Given the description of an element on the screen output the (x, y) to click on. 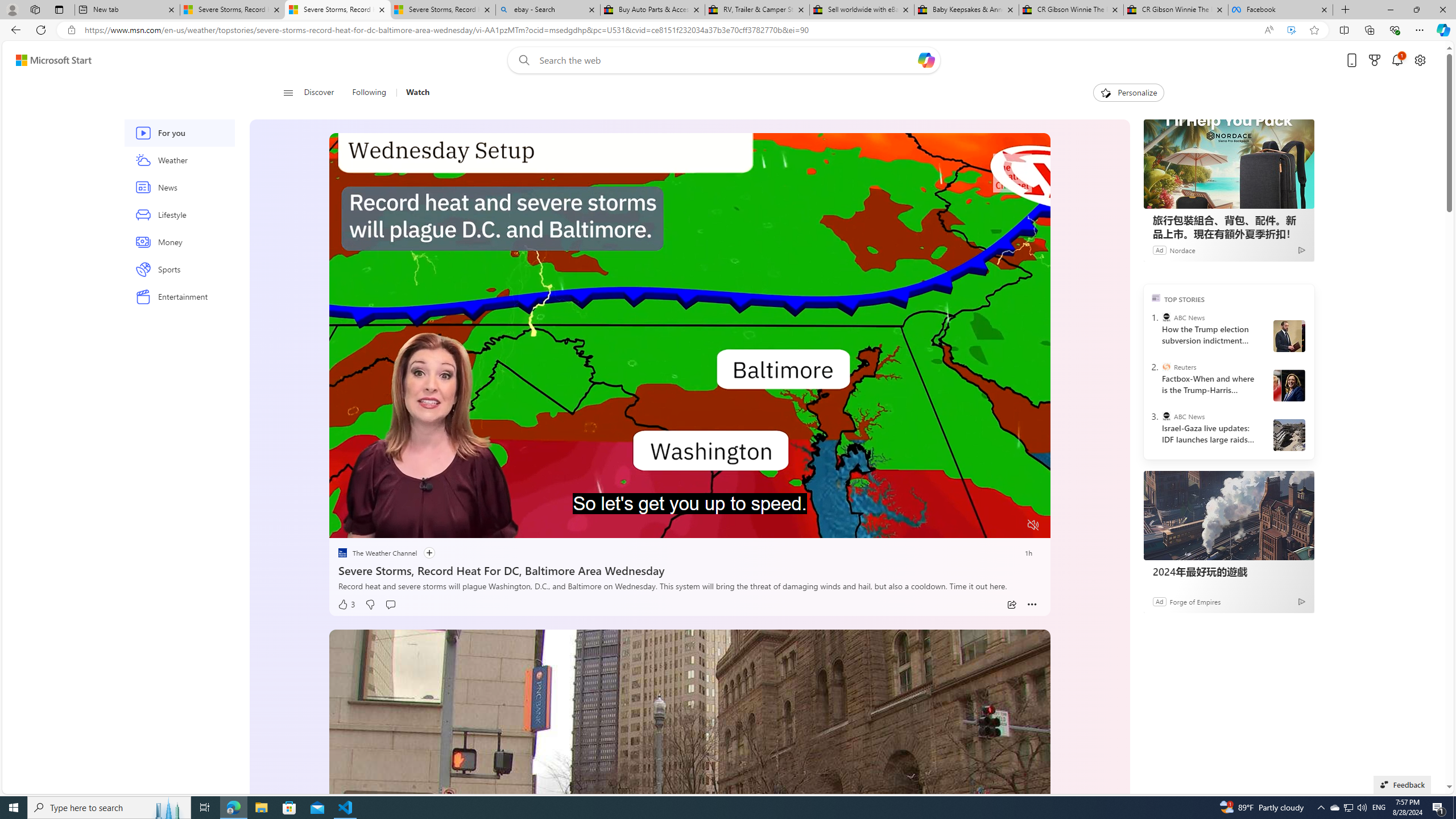
Sell worldwide with eBay (861, 9)
Seek Back (368, 525)
RV, Trailer & Camper Steps & Ladders for sale | eBay (756, 9)
Progress Bar (689, 510)
Pause (346, 525)
